Given the description of an element on the screen output the (x, y) to click on. 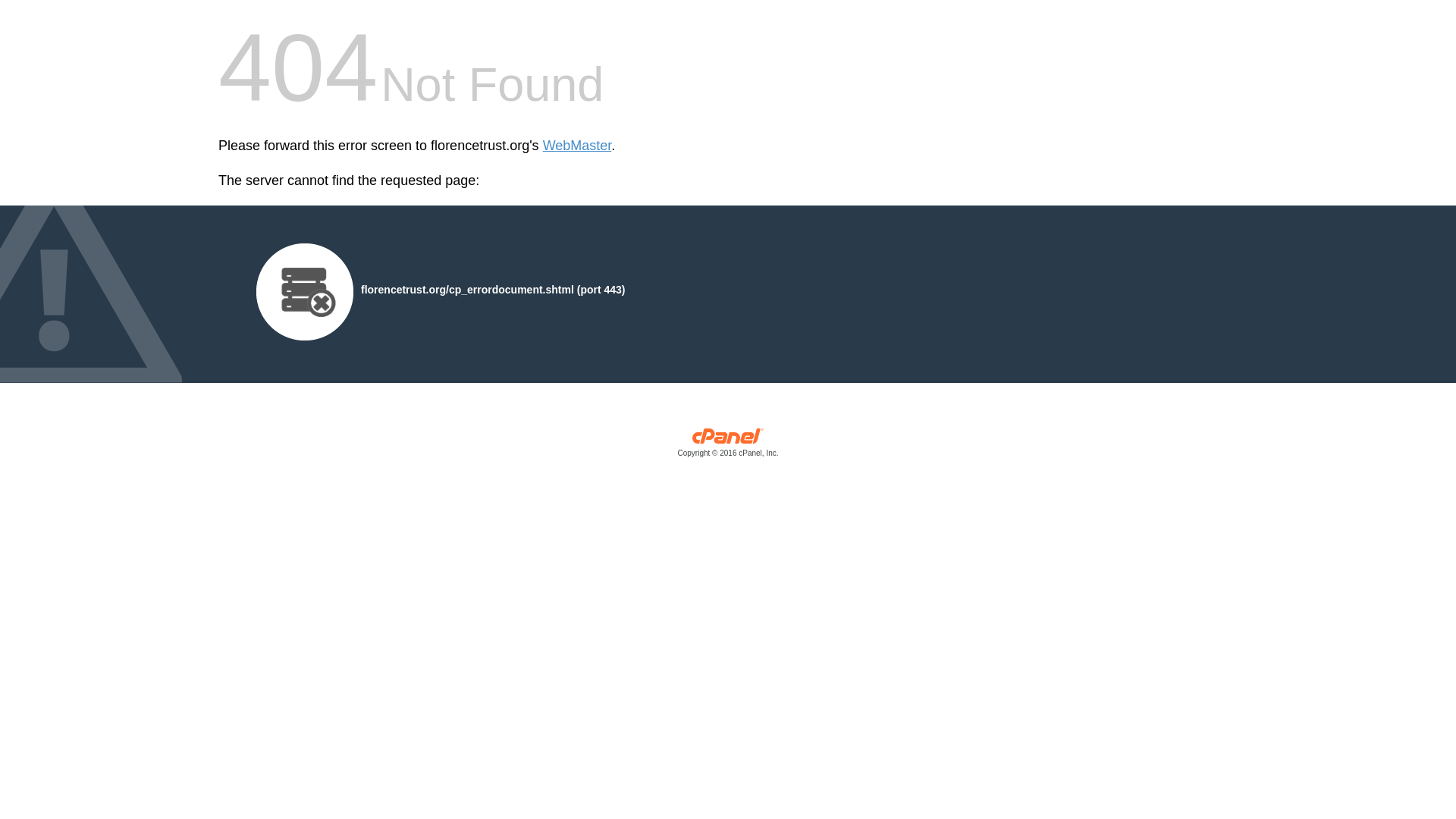
WebMaster (577, 145)
cPanel, Inc. (727, 446)
